Given the description of an element on the screen output the (x, y) to click on. 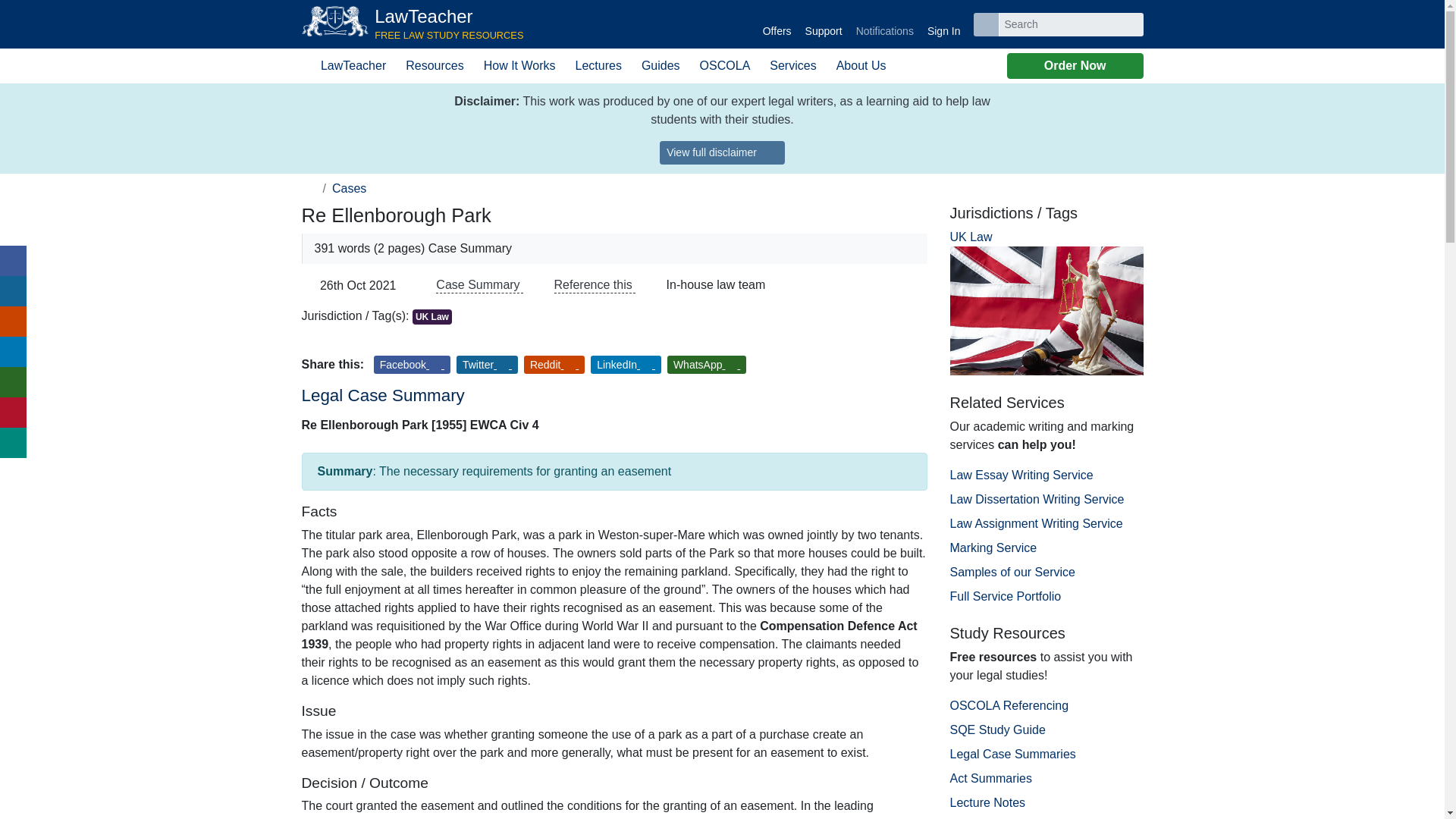
Support (822, 23)
Notifications (884, 23)
View full disclaimer (721, 152)
homepage link (412, 23)
Go to the LawTeacher homepage (309, 187)
Offers (412, 23)
Sign In (776, 23)
